Given the description of an element on the screen output the (x, y) to click on. 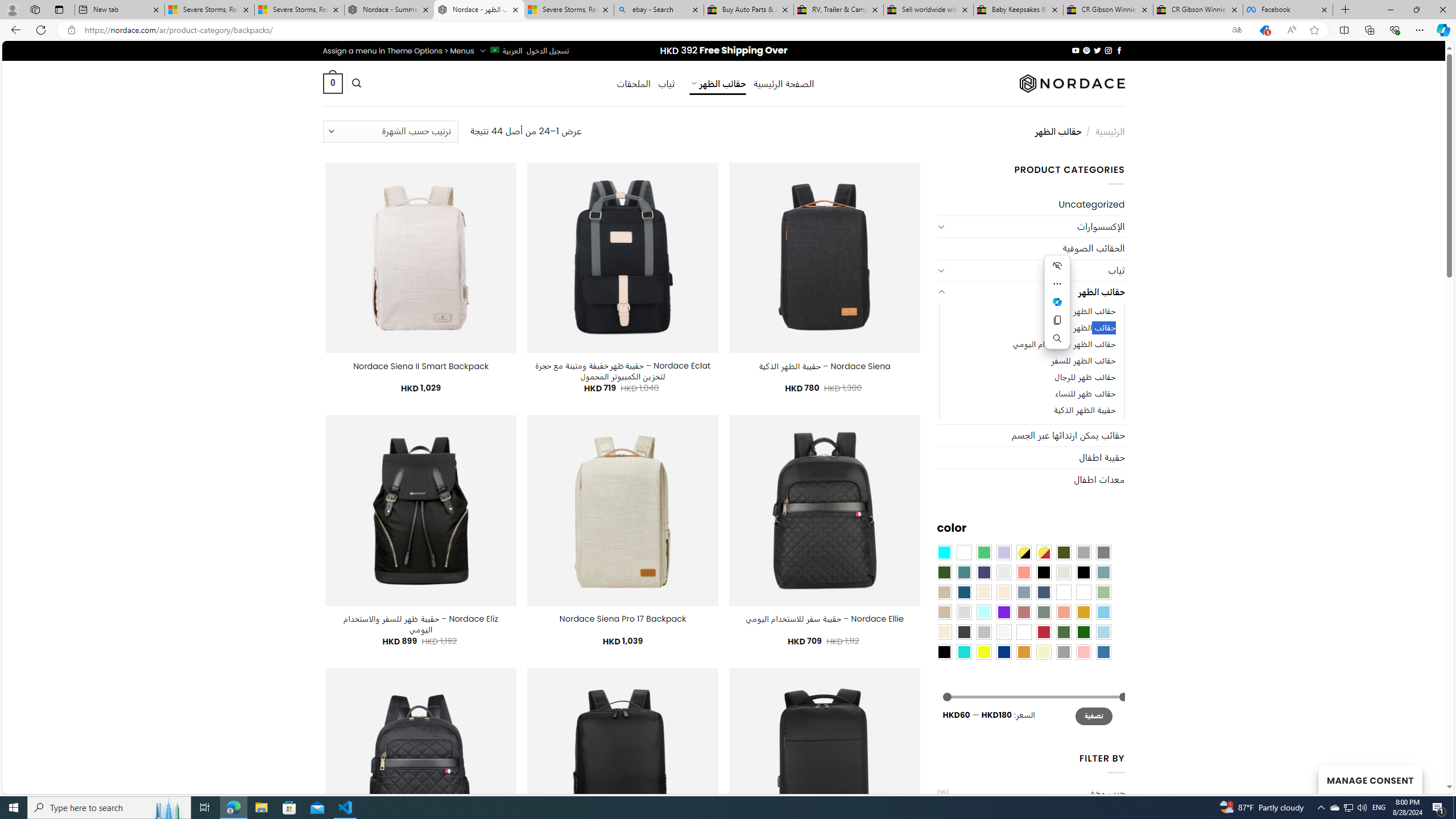
Mini menu on text selection (1057, 301)
Ash Gray (1063, 572)
Assign a menu in Theme Options > Menus (397, 50)
Yellow-Black (1023, 551)
Clear (963, 551)
